Given the description of an element on the screen output the (x, y) to click on. 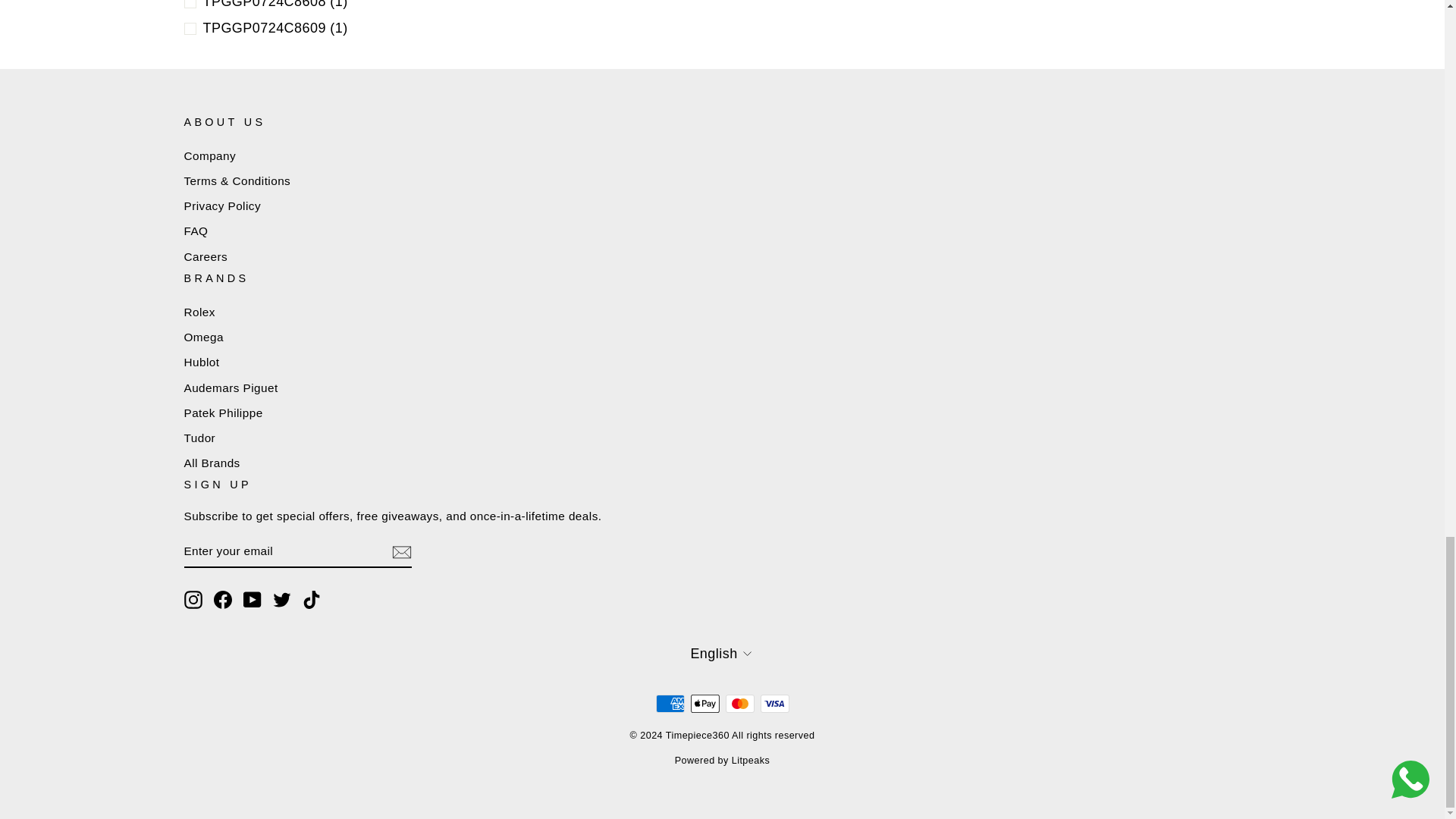
Timepiece360 on Twitter (282, 599)
Timepiece360 on Instagram (192, 599)
Timepiece360 on YouTube (251, 599)
Timepiece360 on Facebook (222, 599)
Timepiece360 on TikTok (310, 599)
